Given the description of an element on the screen output the (x, y) to click on. 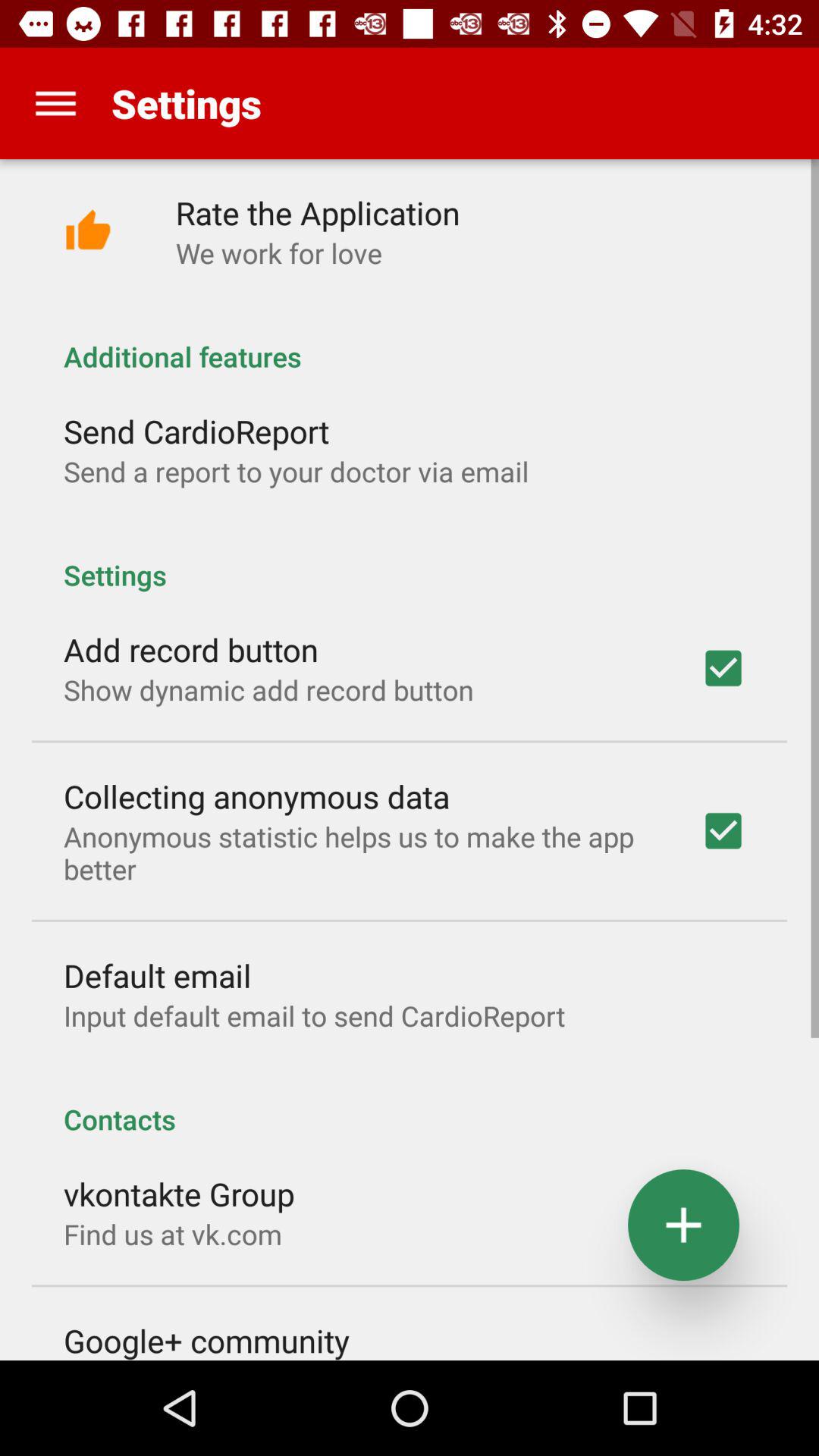
click on add record button (723, 668)
